Given the description of an element on the screen output the (x, y) to click on. 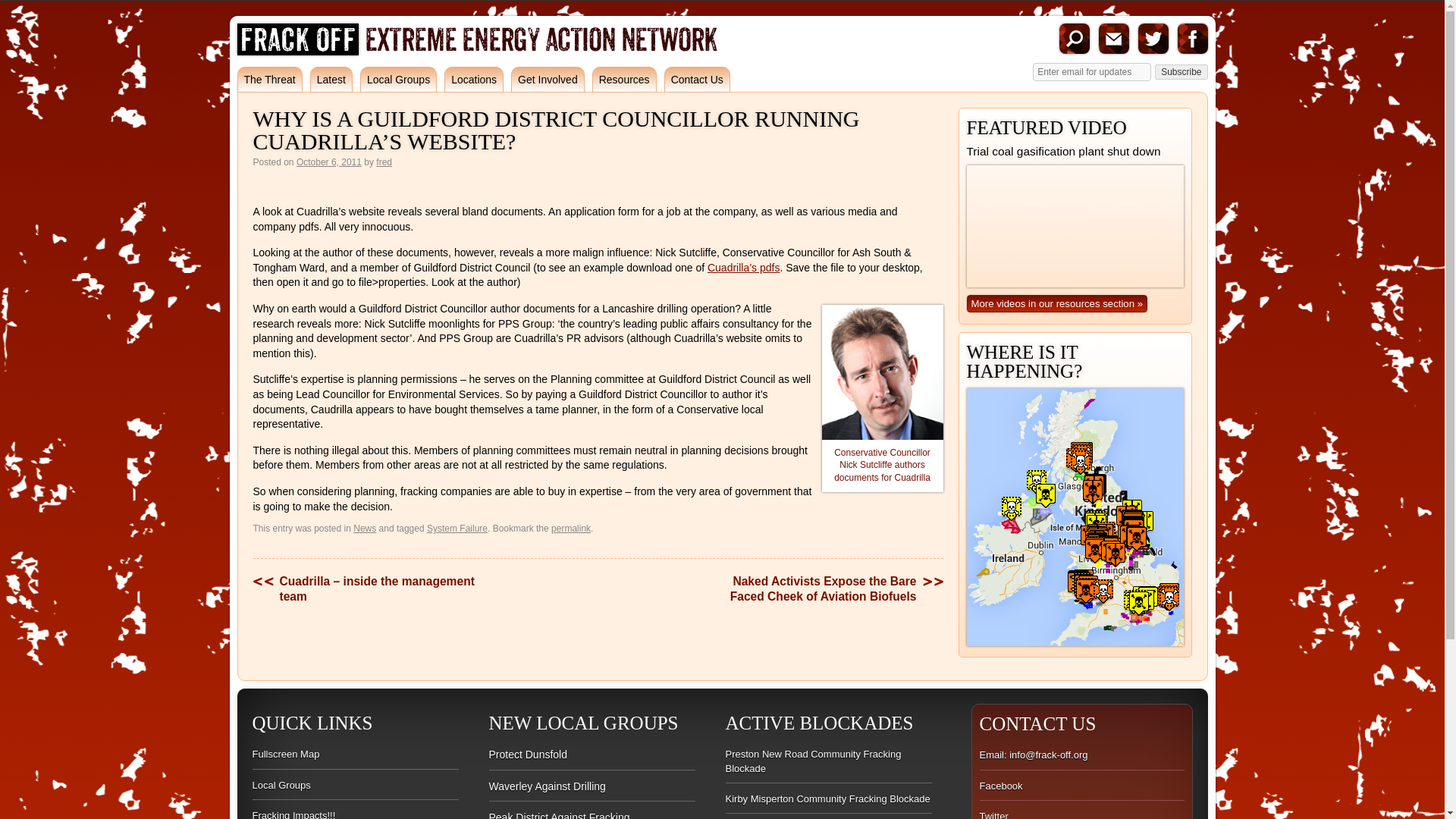
Search (1073, 38)
Search the site (1073, 38)
Twitter (1152, 38)
Subscribe (1180, 71)
View all posts by fred (383, 162)
Join the Frack Off UK Facebook group (1191, 38)
Email us (1112, 38)
9:57 pm (329, 162)
Subscribe (1180, 71)
Frack Off (296, 51)
